Given the description of an element on the screen output the (x, y) to click on. 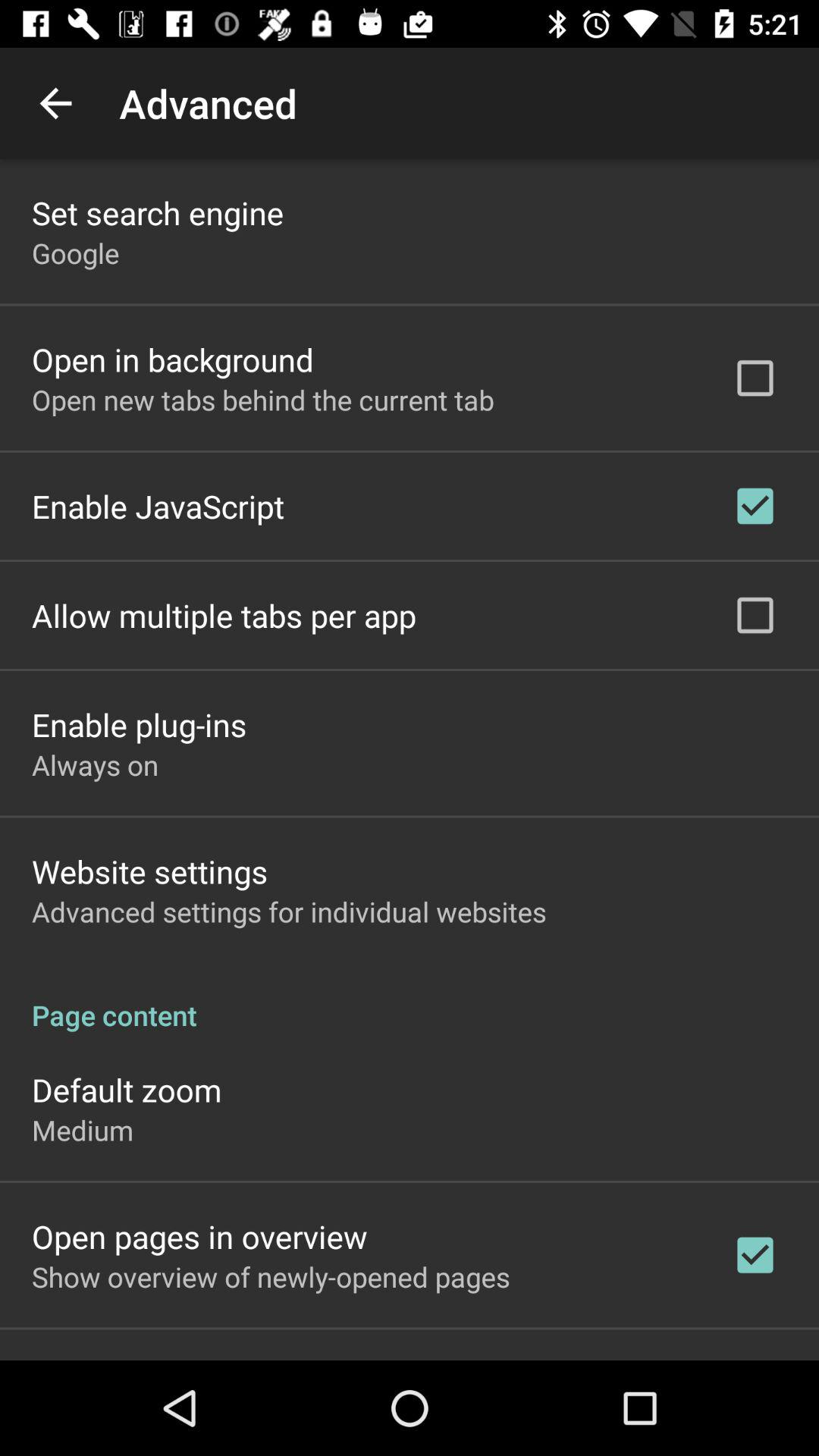
scroll to open new tabs (262, 399)
